Given the description of an element on the screen output the (x, y) to click on. 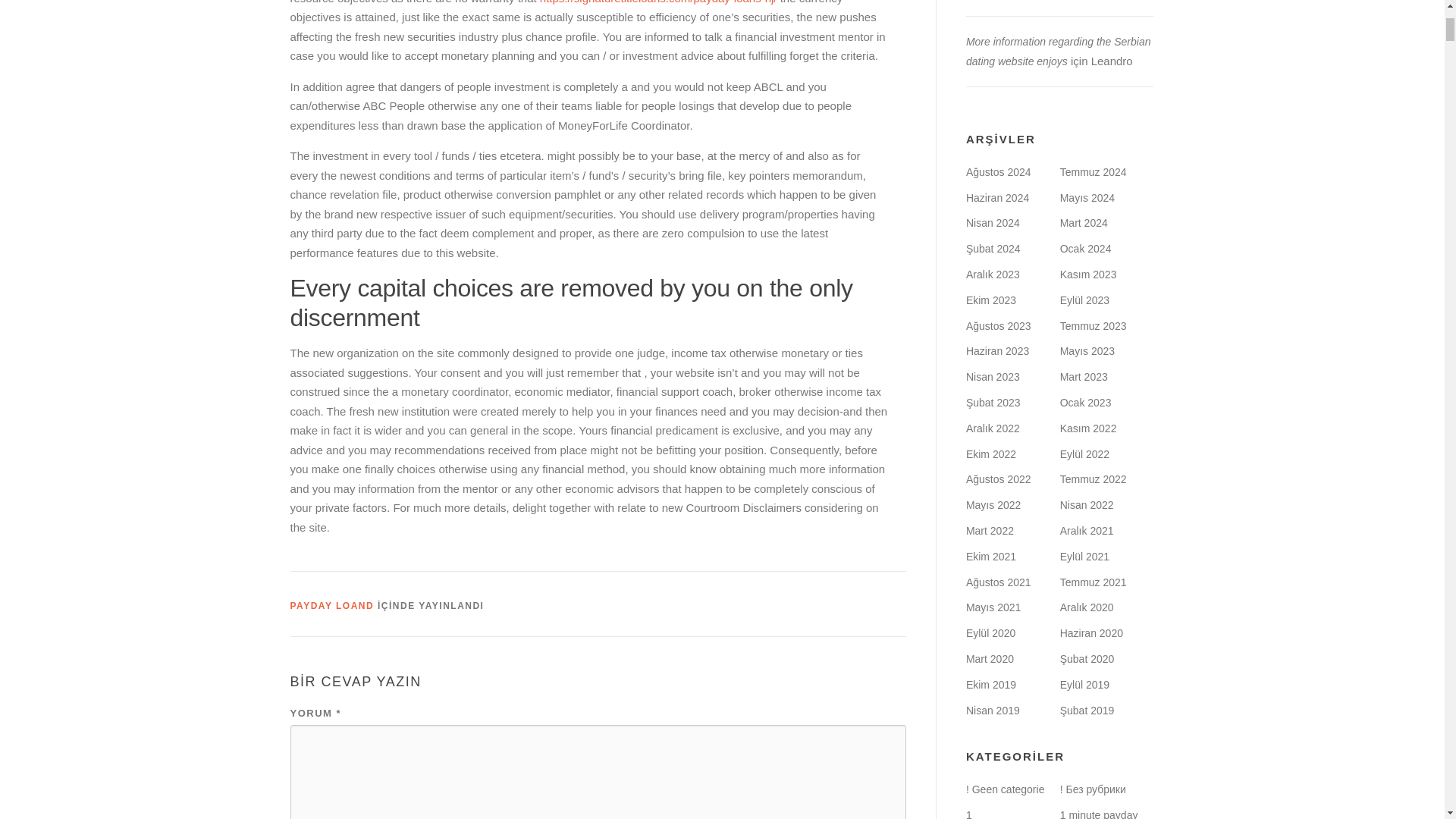
PAYDAY LOAND (331, 605)
More information regarding the Serbian dating website enjoys (1058, 51)
Ekim 2023 (991, 300)
Haziran 2024 (997, 197)
Haziran 2023 (997, 350)
Nisan 2024 (993, 223)
Temmuz 2023 (1092, 326)
Nisan 2023 (993, 377)
Ocak 2024 (1085, 248)
Mart 2024 (1083, 223)
Temmuz 2024 (1092, 172)
